Given the description of an element on the screen output the (x, y) to click on. 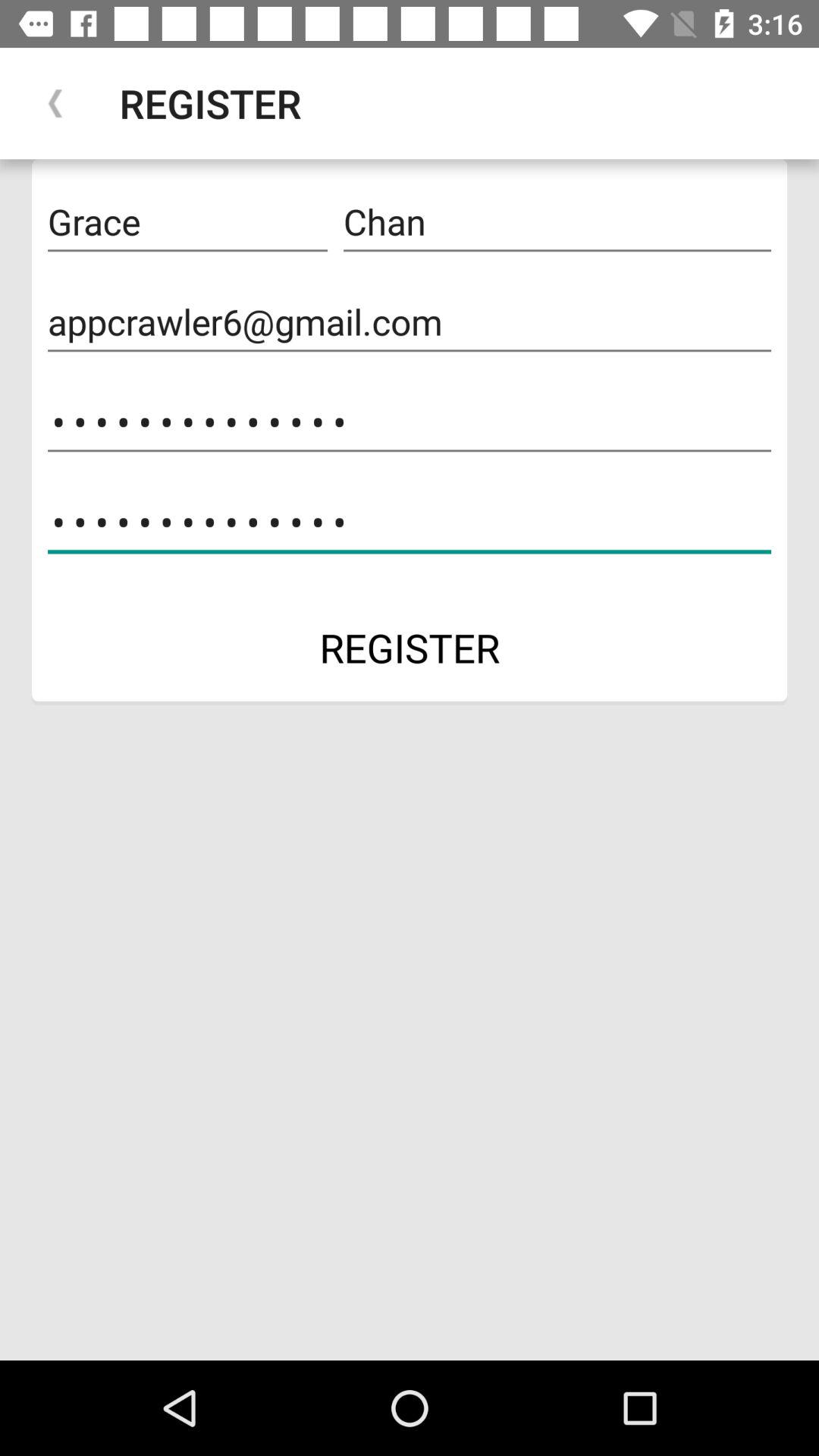
scroll to grace (187, 222)
